Given the description of an element on the screen output the (x, y) to click on. 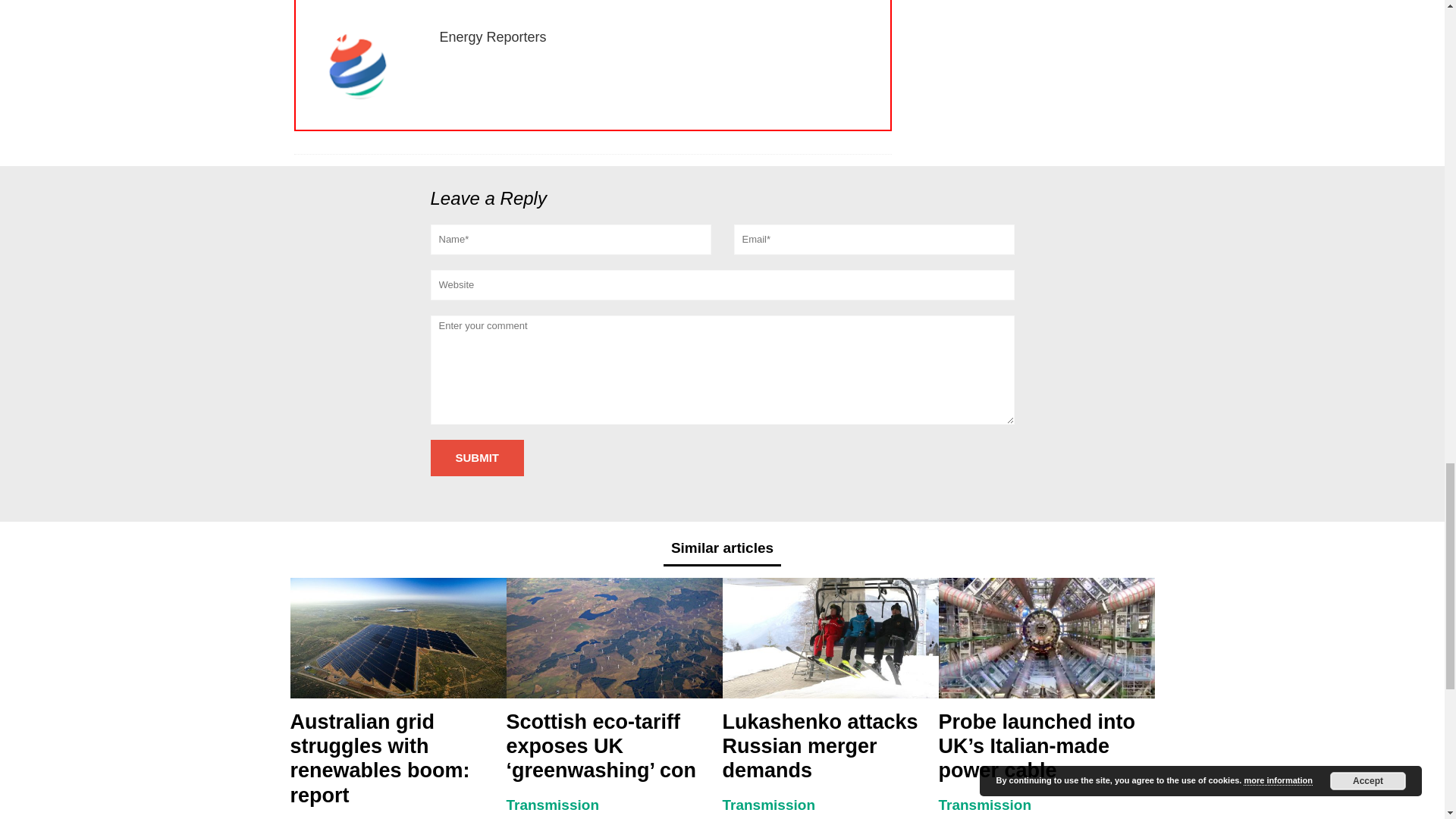
Submit (477, 457)
